Given the description of an element on the screen output the (x, y) to click on. 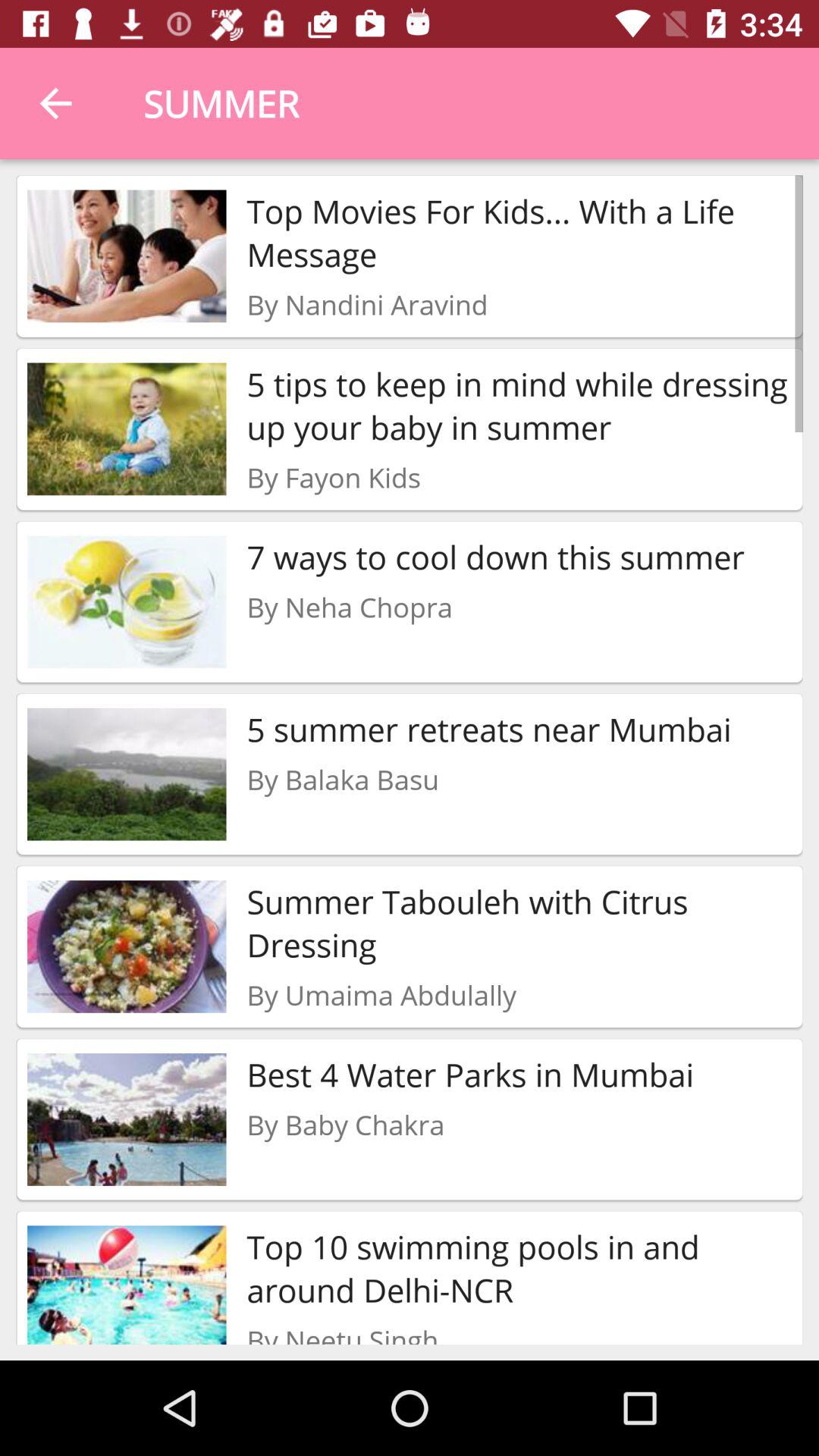
select by baby chakra (345, 1124)
